Given the description of an element on the screen output the (x, y) to click on. 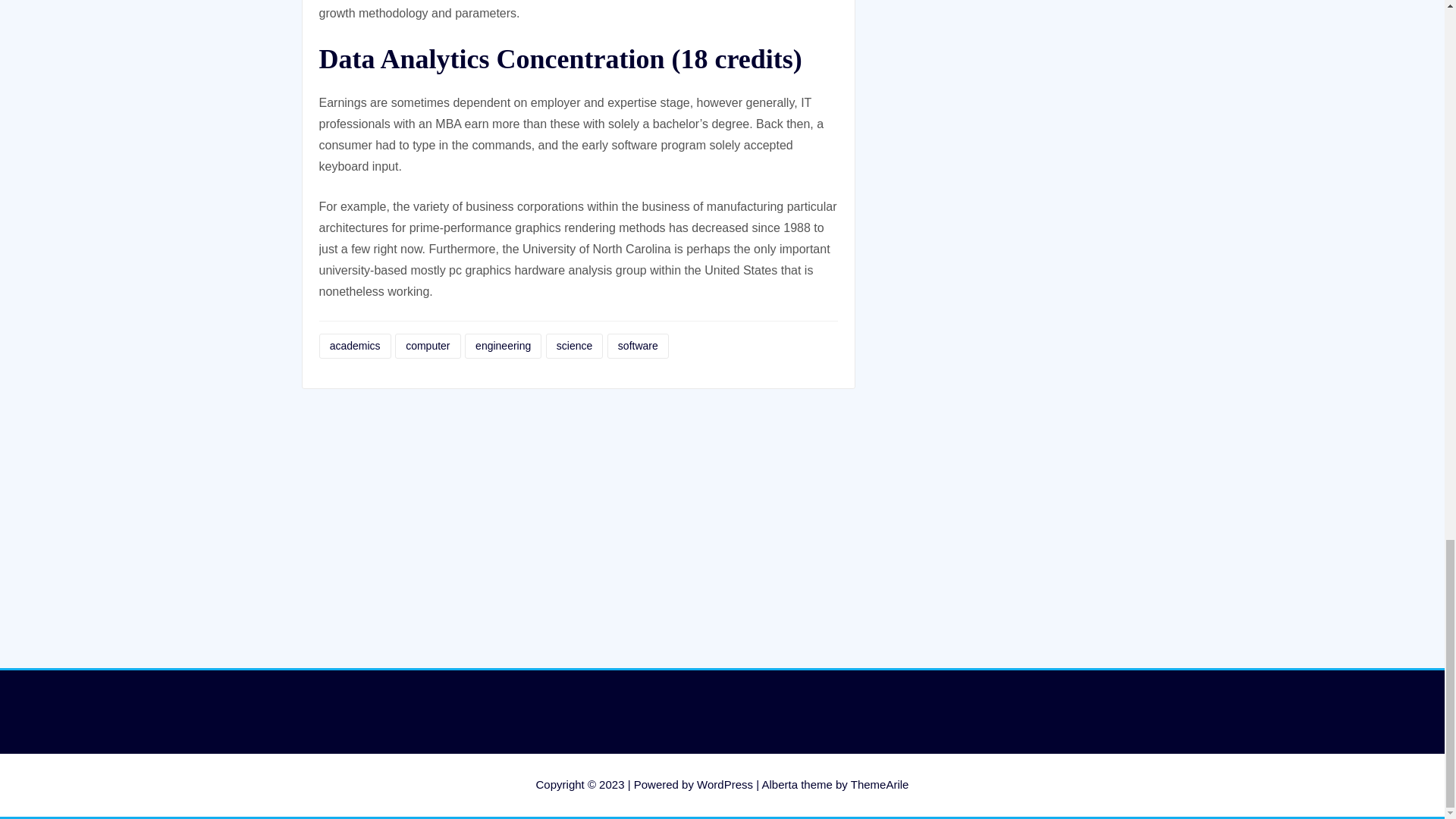
academics (354, 345)
engineering (502, 345)
computer (427, 345)
science (575, 345)
software (637, 345)
